Given the description of an element on the screen output the (x, y) to click on. 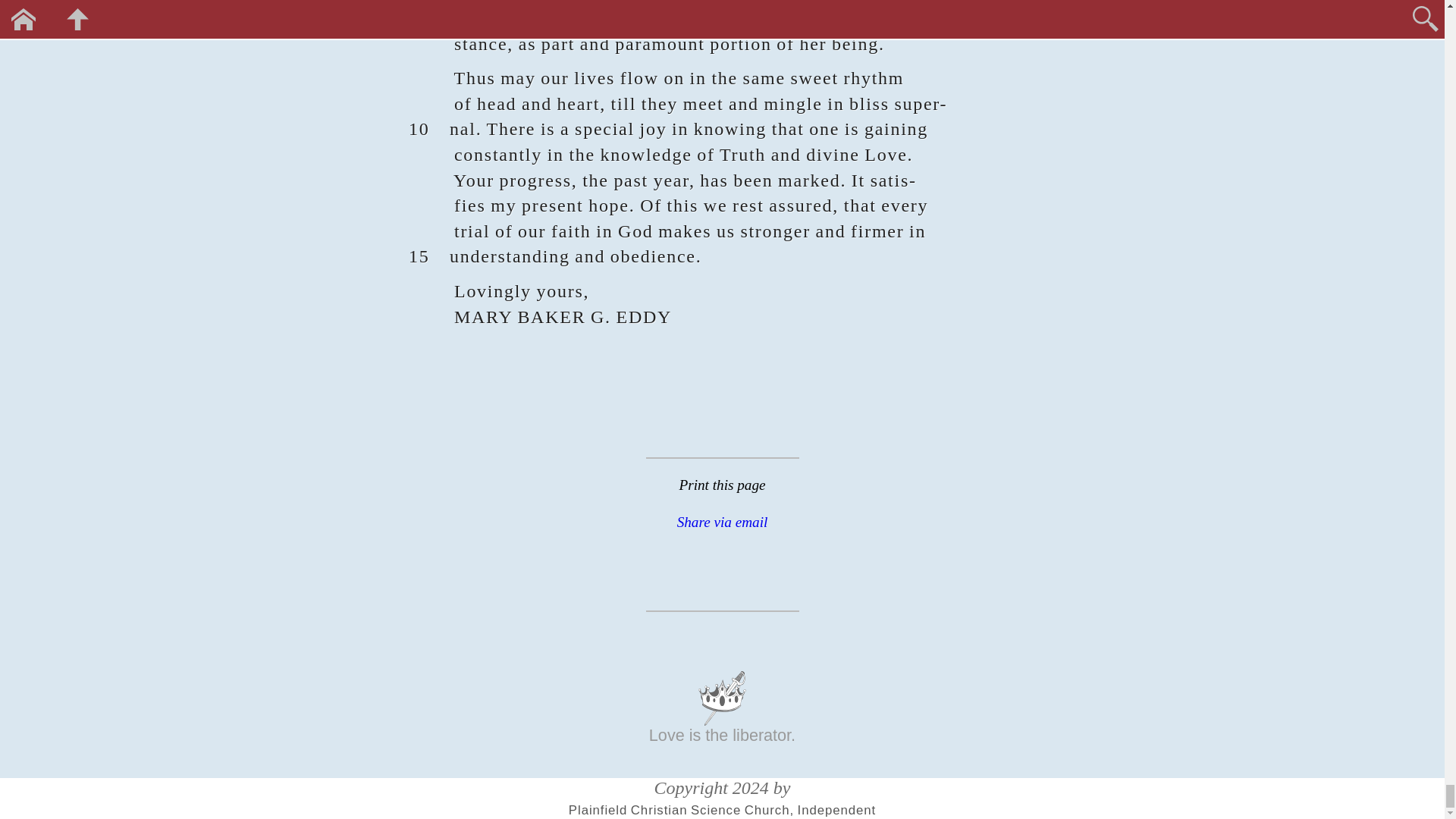
Email this article to a friend. (722, 521)
